Given the description of an element on the screen output the (x, y) to click on. 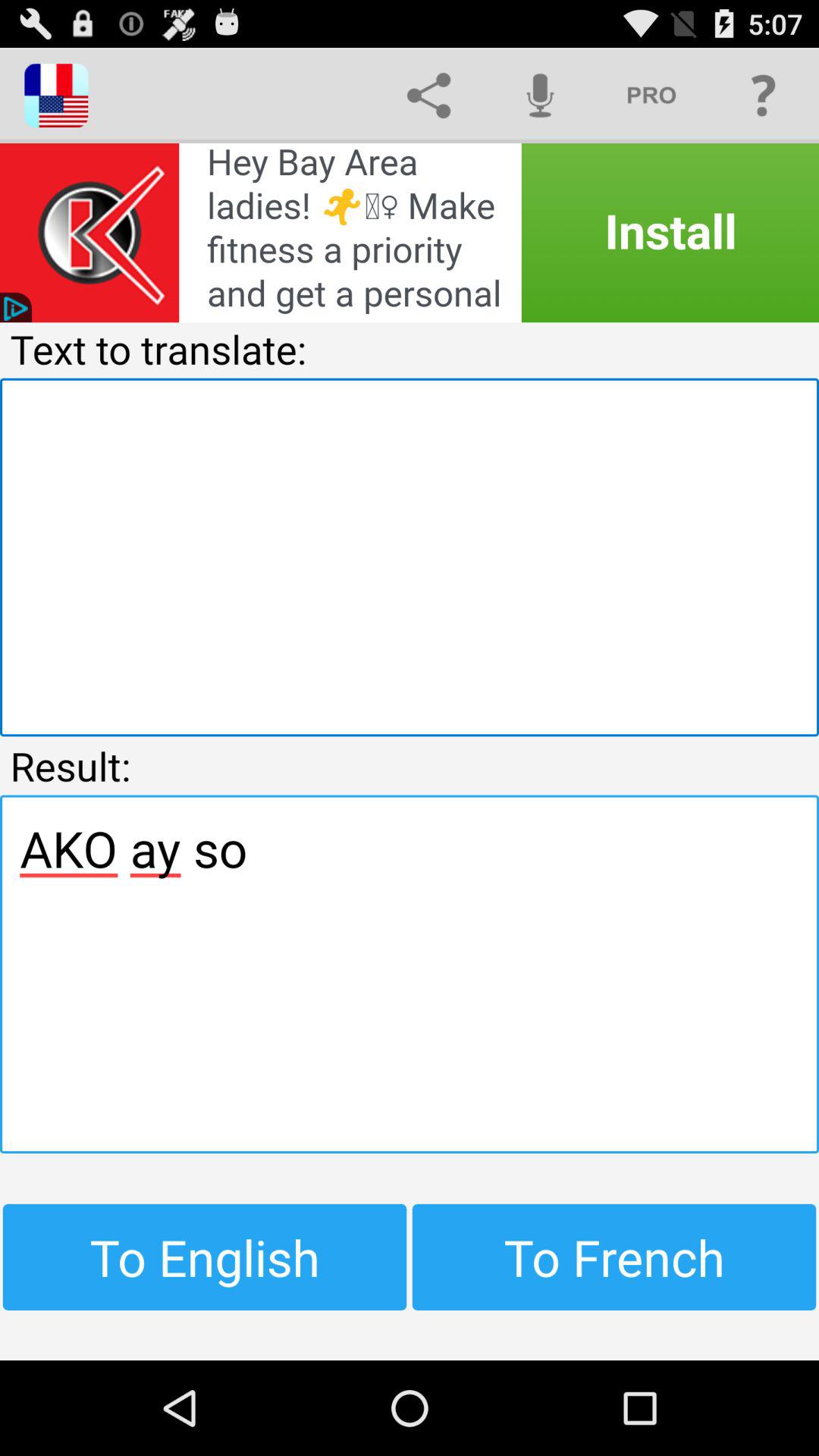
choose to english at the bottom left corner (204, 1257)
